Given the description of an element on the screen output the (x, y) to click on. 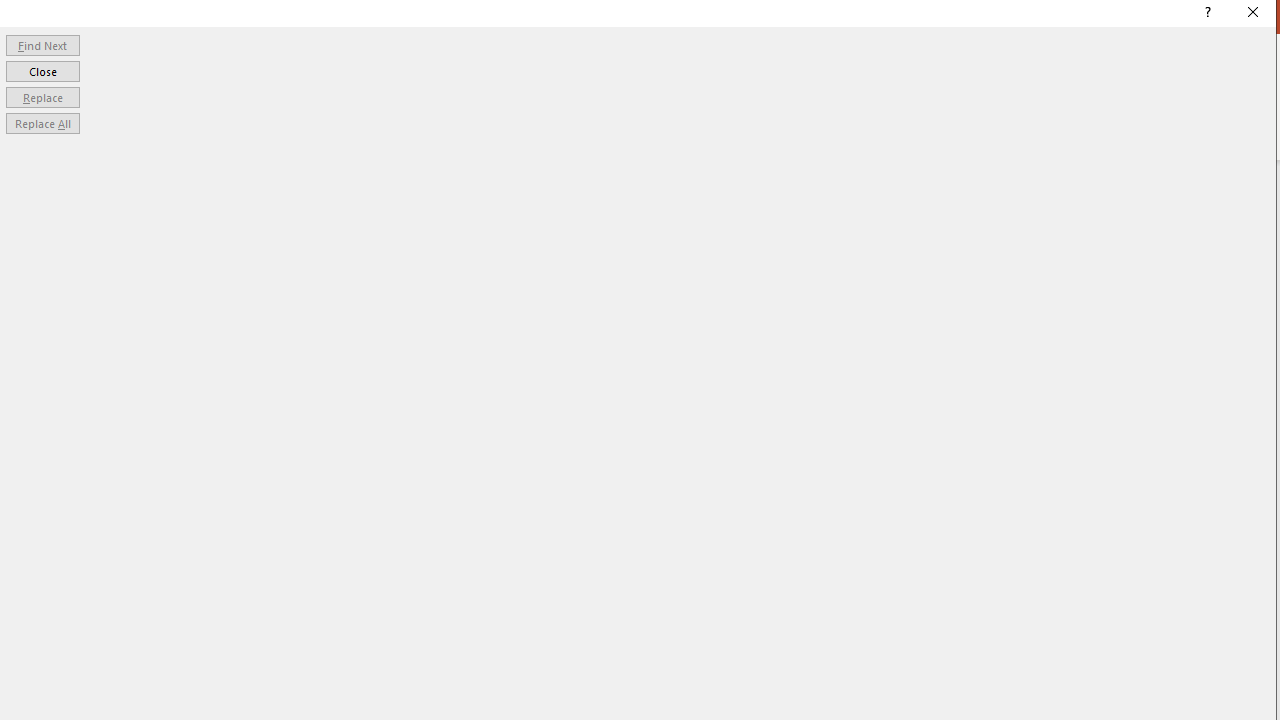
Replace All (42, 123)
Replace (42, 96)
Find Next (42, 44)
